Given the description of an element on the screen output the (x, y) to click on. 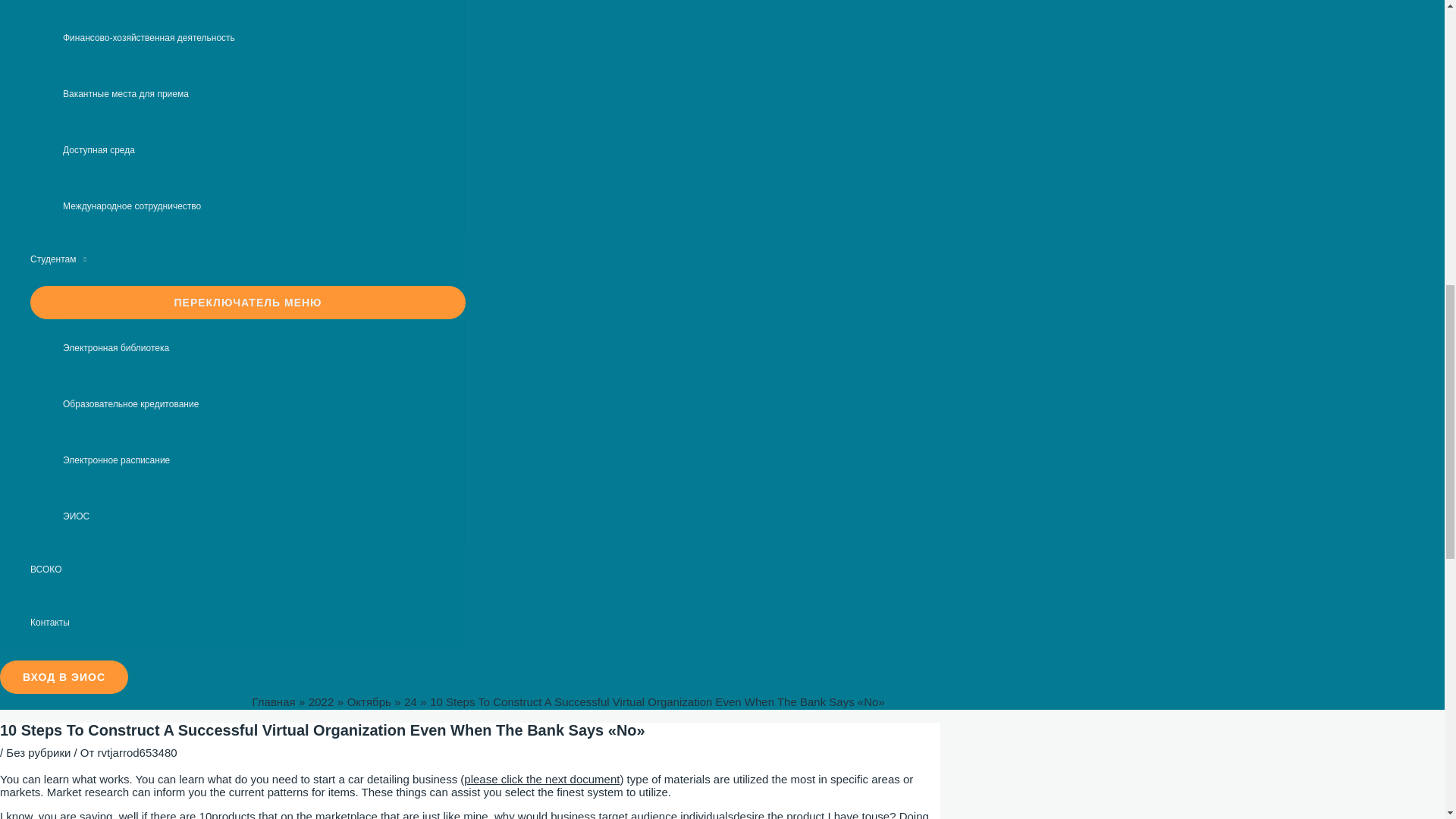
2022 (320, 701)
24 (410, 701)
